Given the description of an element on the screen output the (x, y) to click on. 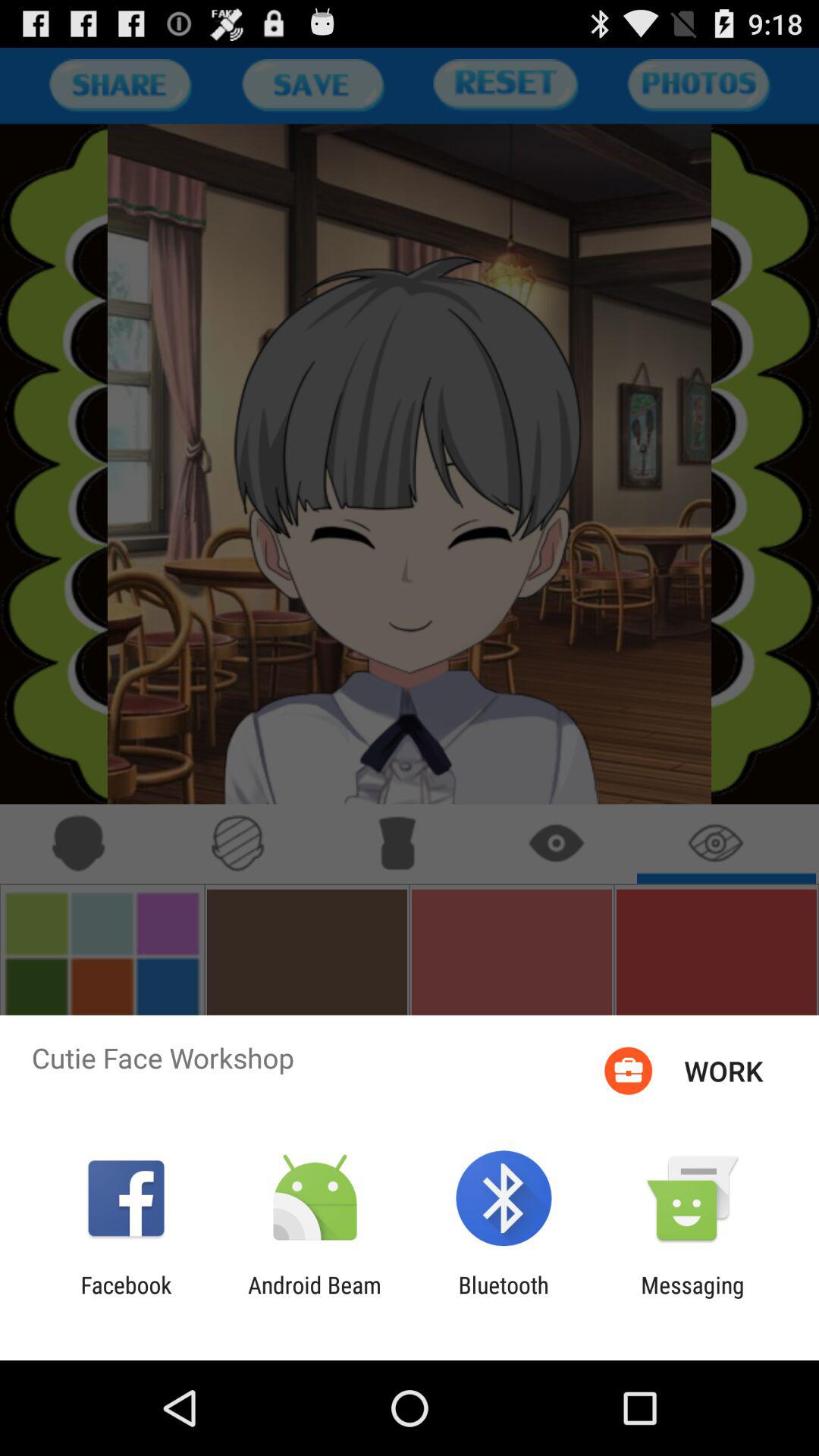
launch item to the left of android beam (125, 1298)
